Given the description of an element on the screen output the (x, y) to click on. 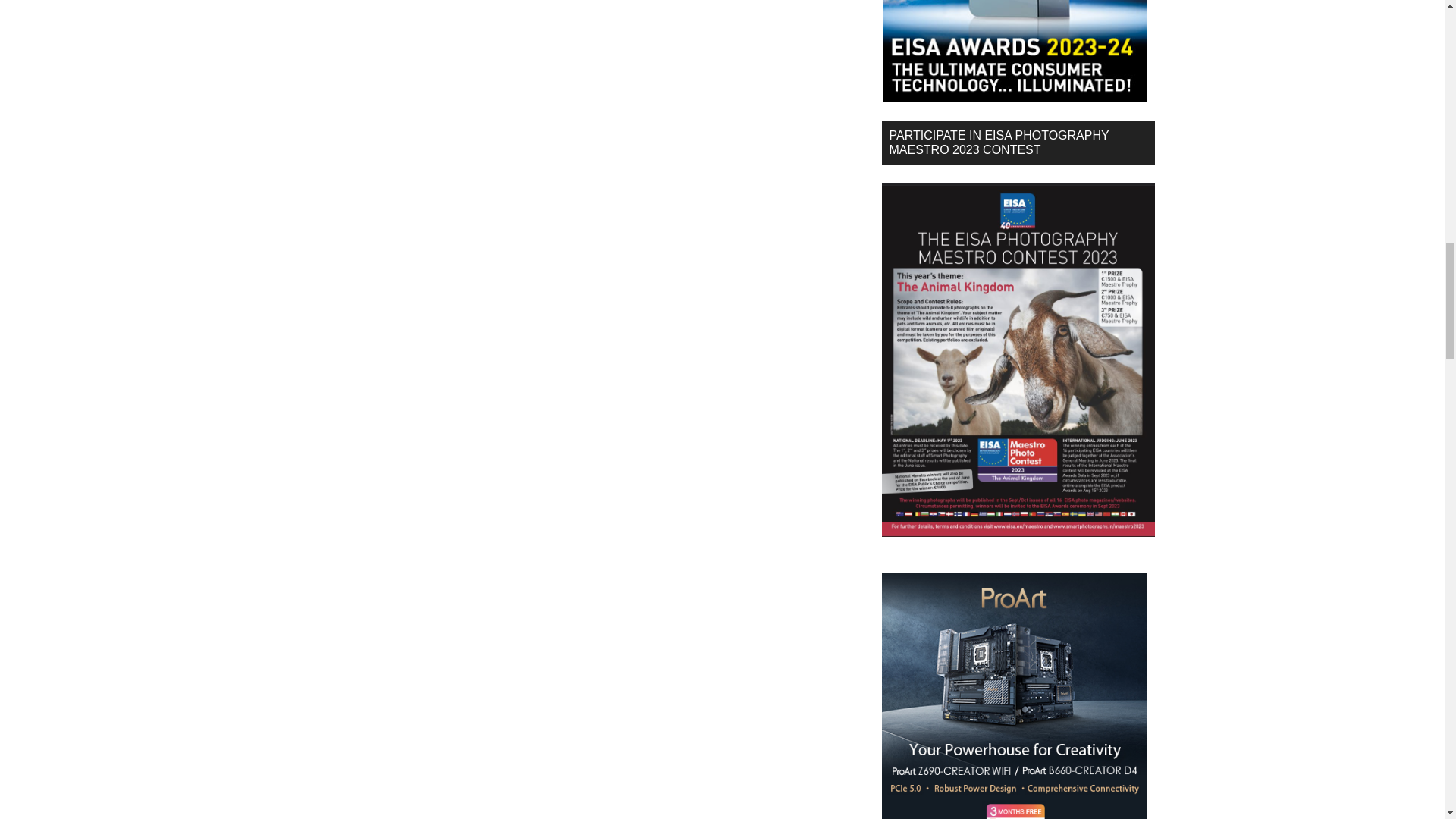
Participate in EISA Photography Maestro 2023 Contest (1017, 359)
